Given the description of an element on the screen output the (x, y) to click on. 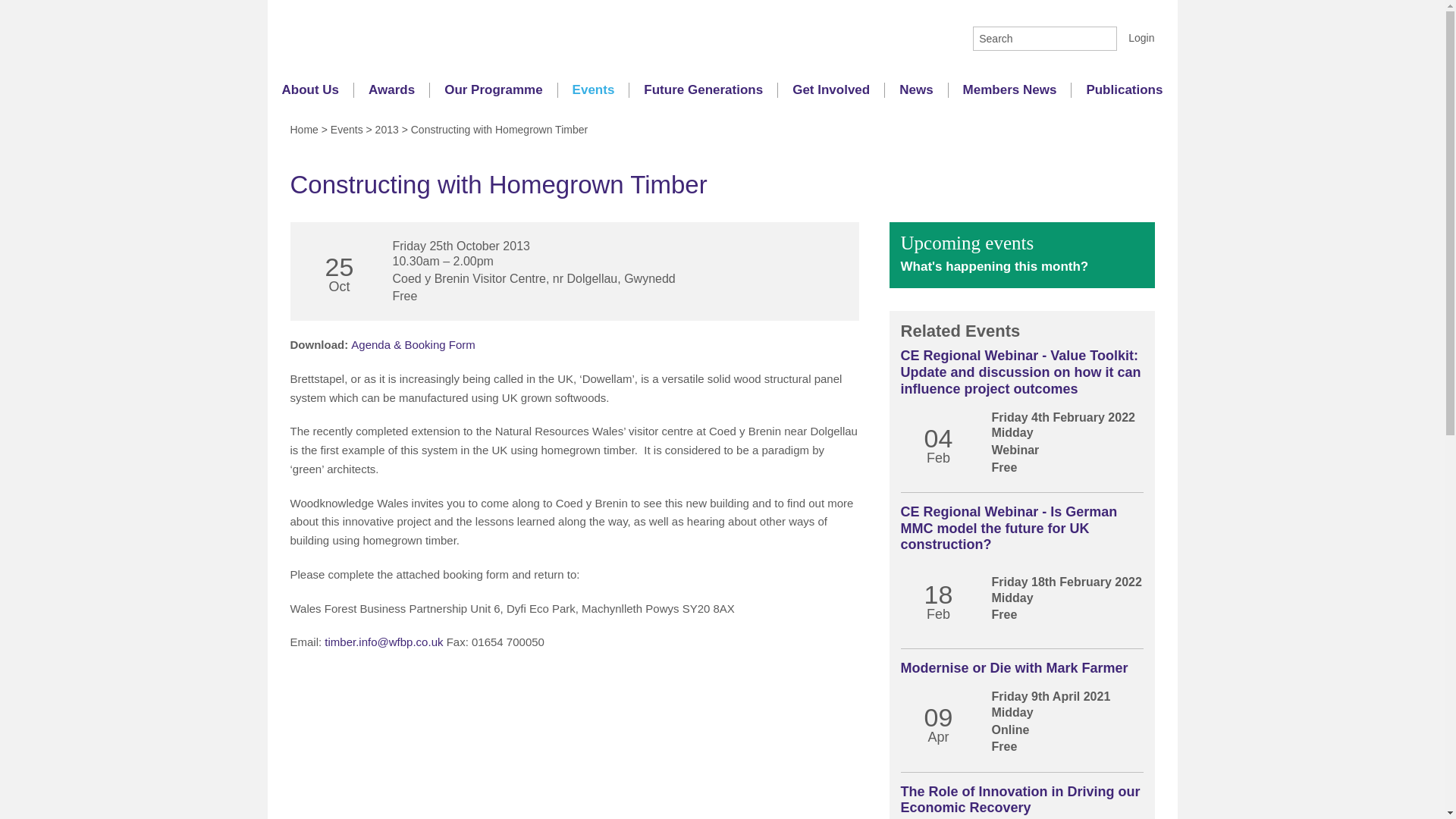
Login (1135, 37)
Our Programme (493, 89)
Awards (391, 89)
Home (303, 129)
Future Generations (702, 89)
Agenda-and-Booking-Form.doc (412, 344)
Members News (1010, 89)
What's happening this month? (995, 266)
Modernise or Die with Mark Farmer (1014, 667)
Publications (1123, 89)
Events (346, 129)
About Us (309, 89)
The Role of Innovation in Driving our Economic Recovery (1020, 799)
